Given the description of an element on the screen output the (x, y) to click on. 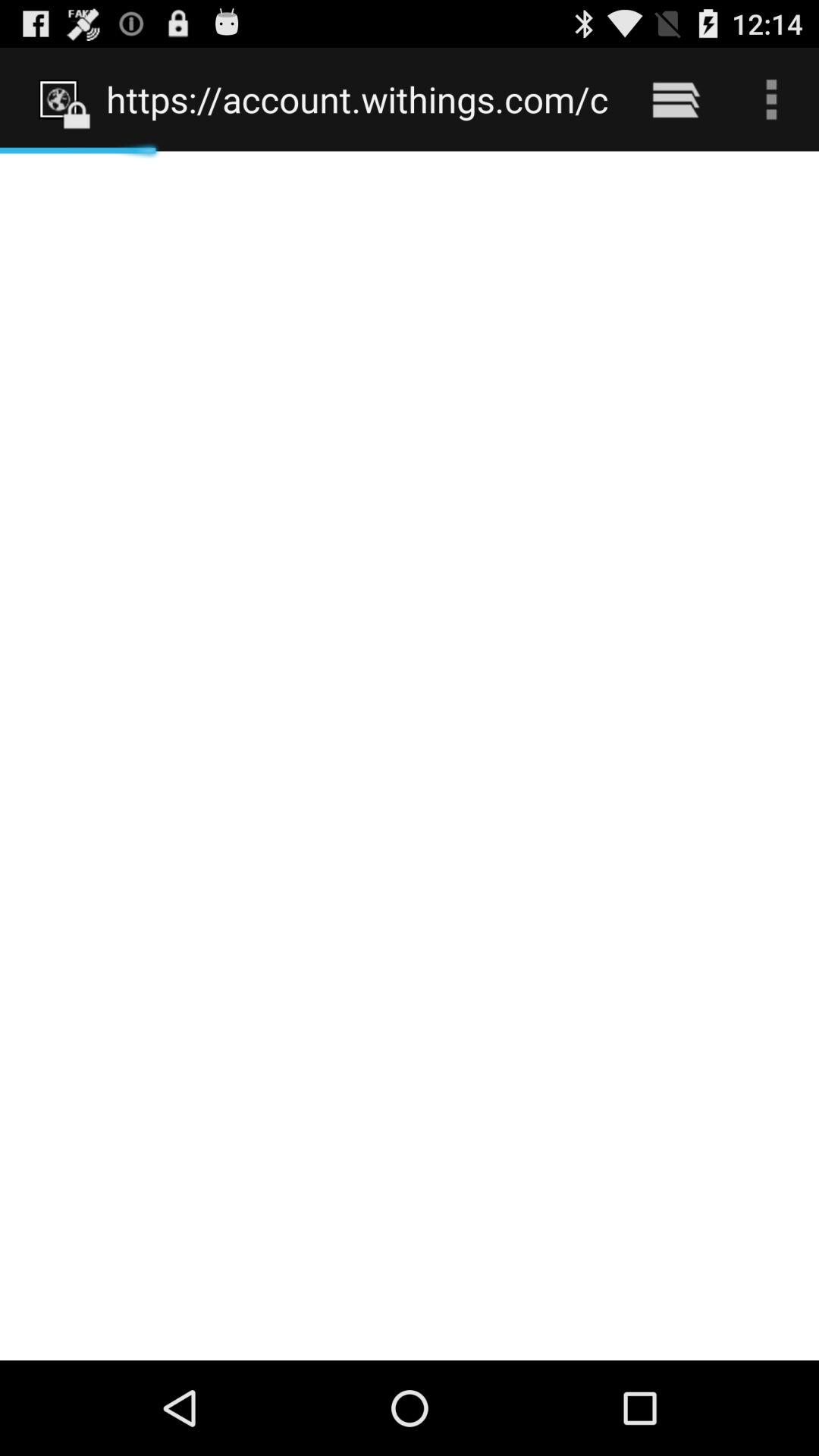
turn off icon to the right of https account withings (675, 99)
